Given the description of an element on the screen output the (x, y) to click on. 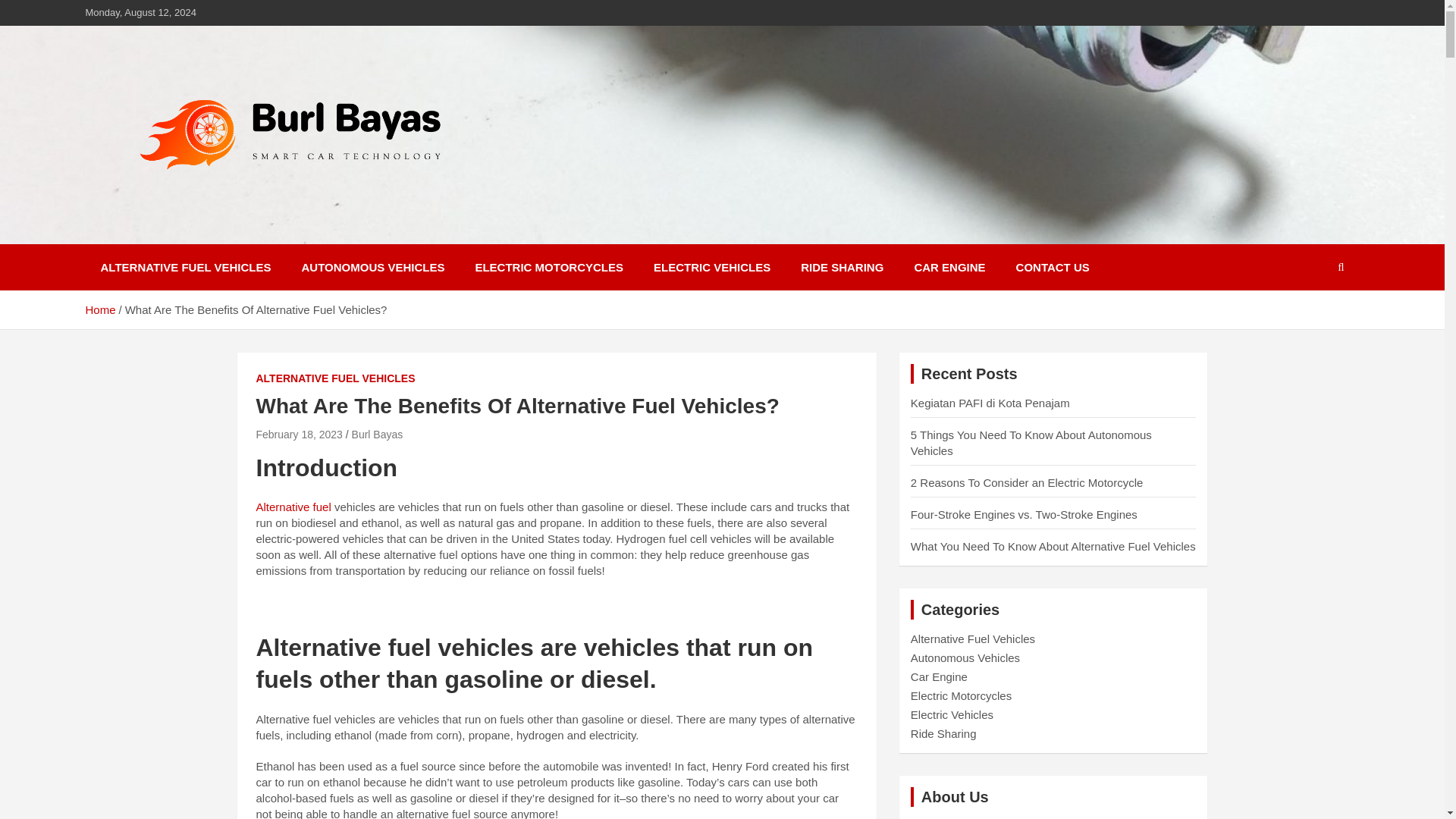
ELECTRIC MOTORCYCLES (549, 267)
Electric Vehicles (951, 714)
Ride Sharing (943, 733)
Four-Stroke Engines vs. Two-Stroke Engines (1024, 513)
Burl Bayas (377, 434)
February 18, 2023 (299, 434)
Autonomous Vehicles (965, 657)
ELECTRIC VEHICLES (712, 267)
ALTERNATIVE FUEL VEHICLES (335, 378)
Home (99, 309)
